Given the description of an element on the screen output the (x, y) to click on. 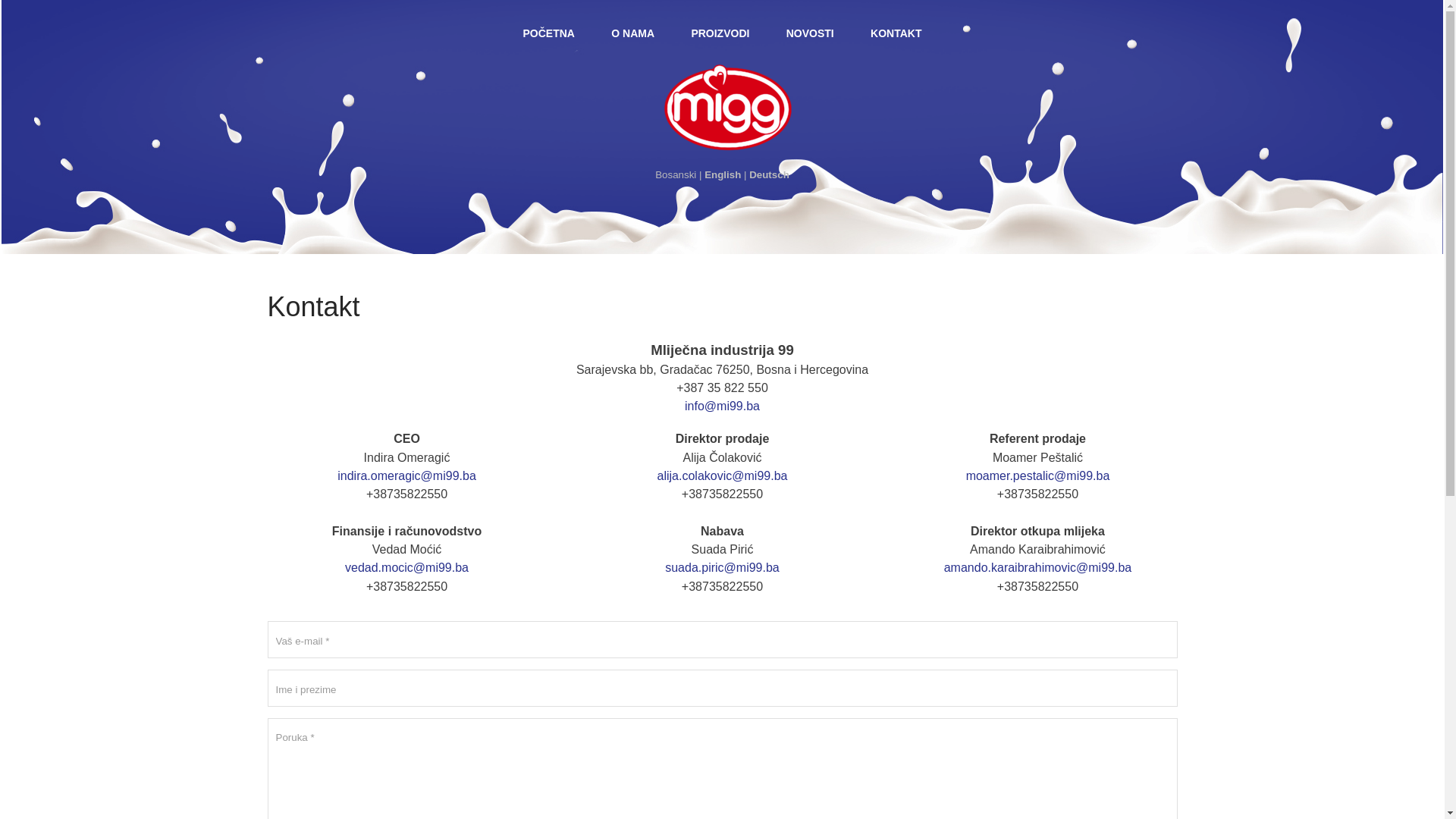
KONTAKT Element type: text (896, 33)
vedad.mocic@mi99.ba Element type: text (406, 567)
PROIZVODI Element type: text (719, 33)
info@mi99.ba Element type: text (721, 405)
moamer.pestalic@mi99.ba Element type: text (1038, 475)
suada.piric@mi99.ba Element type: text (722, 567)
NOVOSTI Element type: text (809, 33)
indira.omeragic@mi99.ba Element type: text (406, 475)
amando.karaibrahimovic@mi99.ba Element type: text (1037, 567)
English Element type: text (722, 174)
Deutsch Element type: text (769, 174)
alija.colakovic@mi99.ba Element type: text (722, 475)
O NAMA Element type: text (633, 33)
